Given the description of an element on the screen output the (x, y) to click on. 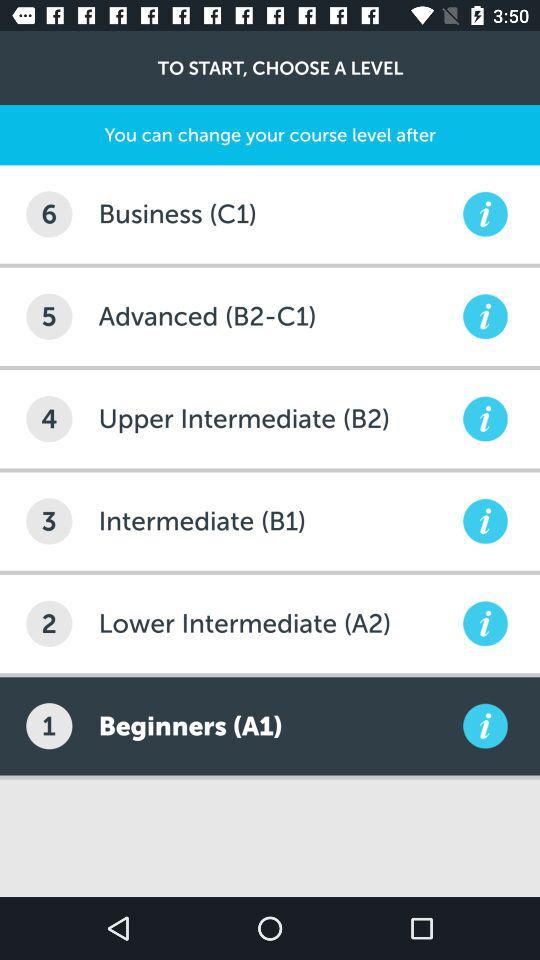
click the item below the 3 item (49, 623)
